Given the description of an element on the screen output the (x, y) to click on. 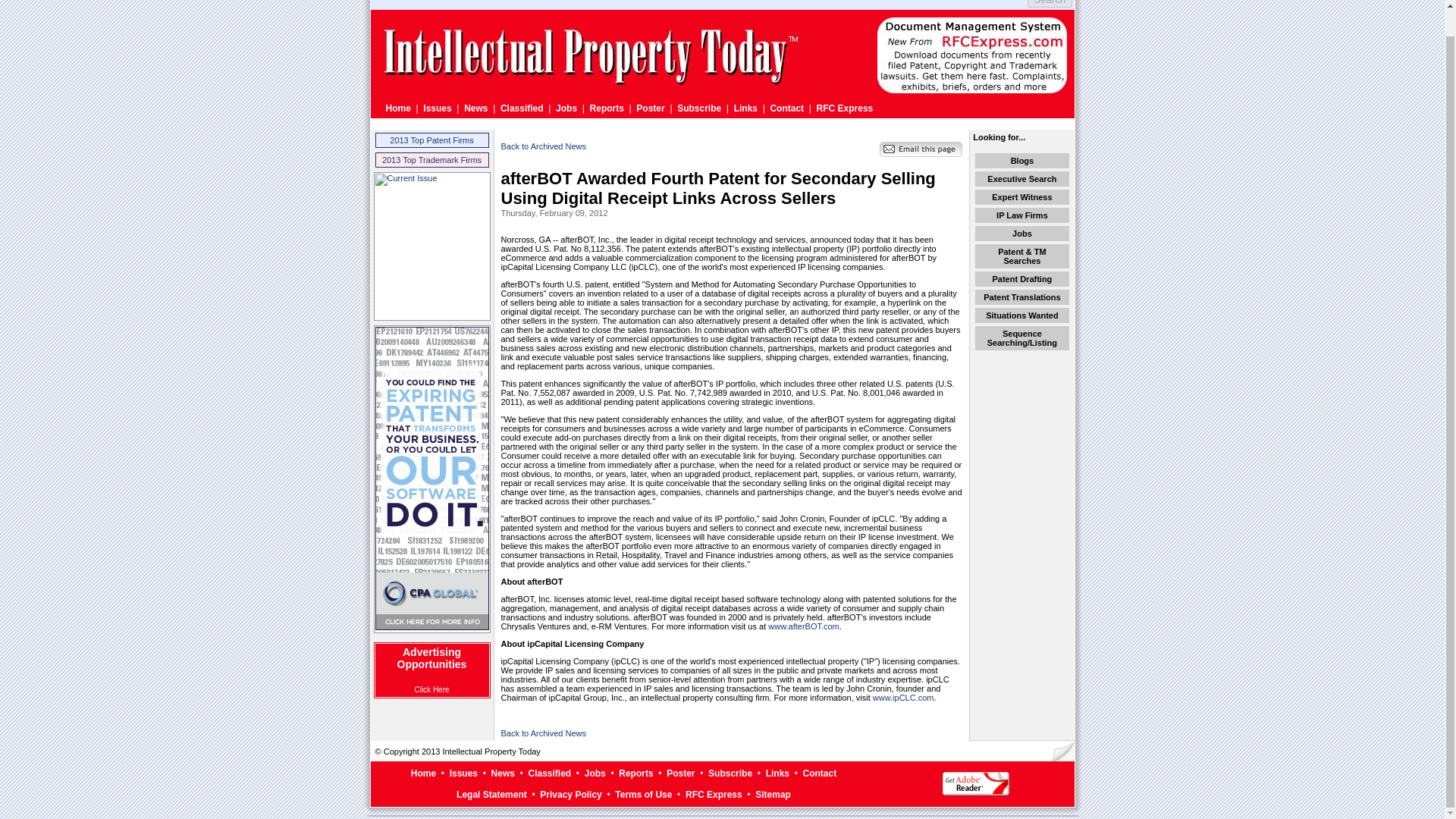
Classified (548, 773)
Click Here (430, 689)
Poster (649, 108)
Jobs (1021, 233)
RFC Express (844, 108)
Search (1049, 3)
Issues (463, 773)
Links (745, 108)
Reports (606, 108)
2013 Top Trademark Firms (431, 159)
